Given the description of an element on the screen output the (x, y) to click on. 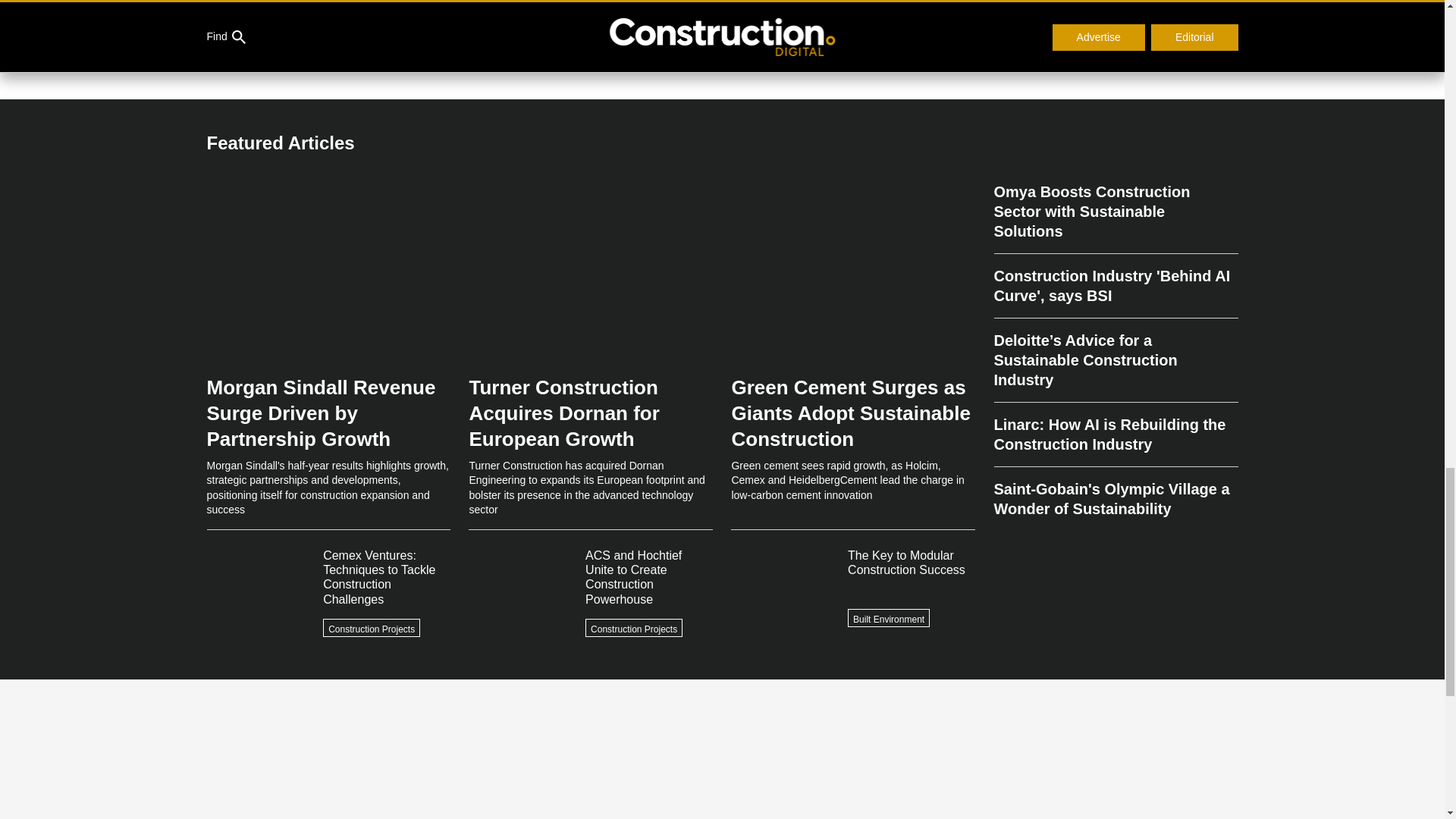
Construction Industry 'Behind AI Curve', says BSI (1114, 285)
Omya Boosts Construction Sector with Sustainable Solutions (1114, 217)
Saint-Gobain's Olympic Village a Wonder of Sustainability (1114, 492)
Linarc: How AI is Rebuilding the Construction Industry (1114, 434)
